Given the description of an element on the screen output the (x, y) to click on. 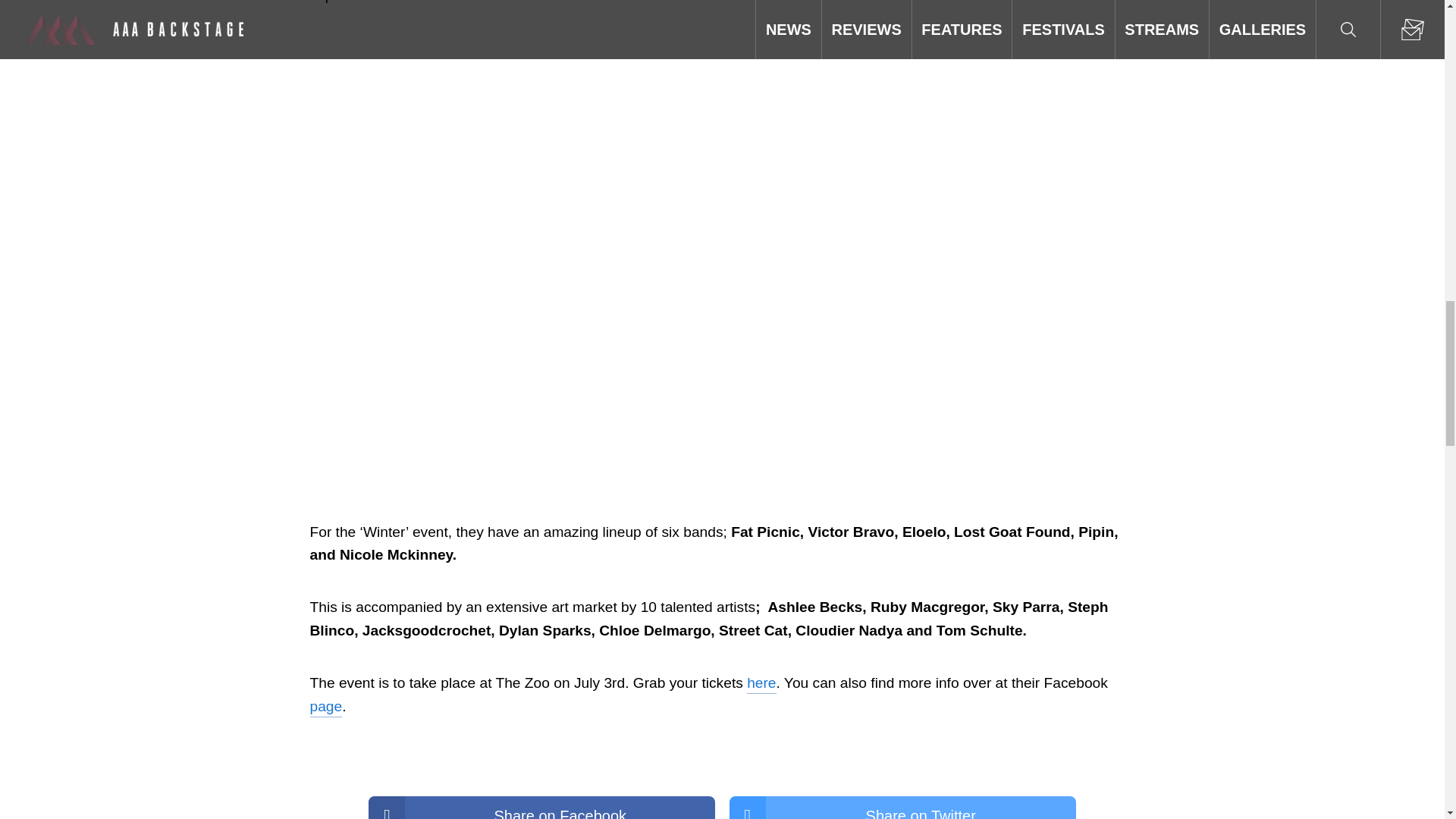
Share on Facebook (541, 807)
here (761, 683)
page (325, 707)
Share on Twitter (902, 807)
